Given the description of an element on the screen output the (x, y) to click on. 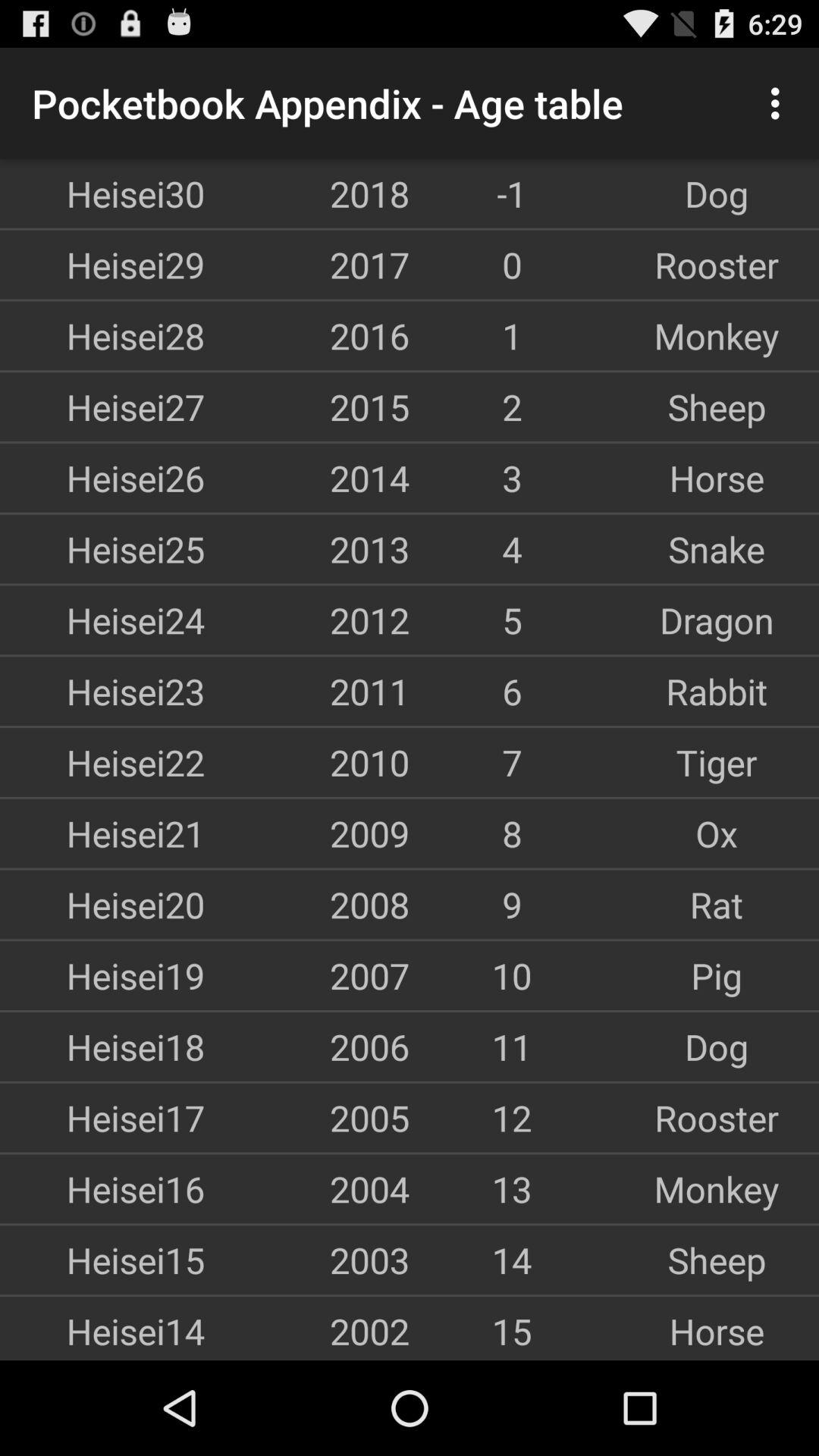
turn off the icon above heisei23 icon (102, 620)
